Given the description of an element on the screen output the (x, y) to click on. 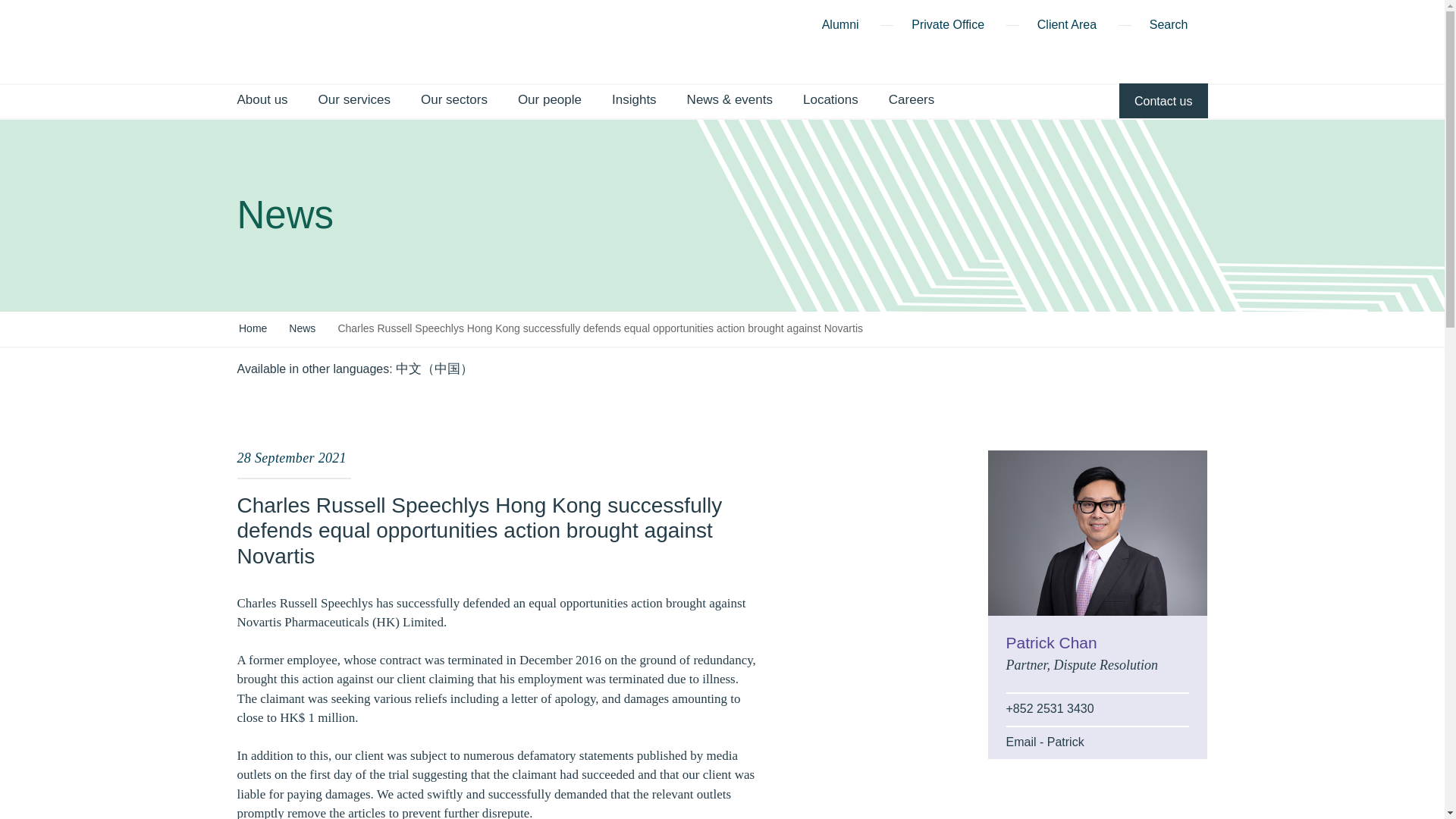
patrick-chan (1097, 532)
Search (1179, 26)
Charles Russell Speechlys (274, 39)
Client Area (1066, 26)
About us (260, 100)
Alumni (840, 26)
Our services (354, 100)
Our sectors (453, 100)
Charles Russell Speechlys (274, 41)
